Given the description of an element on the screen output the (x, y) to click on. 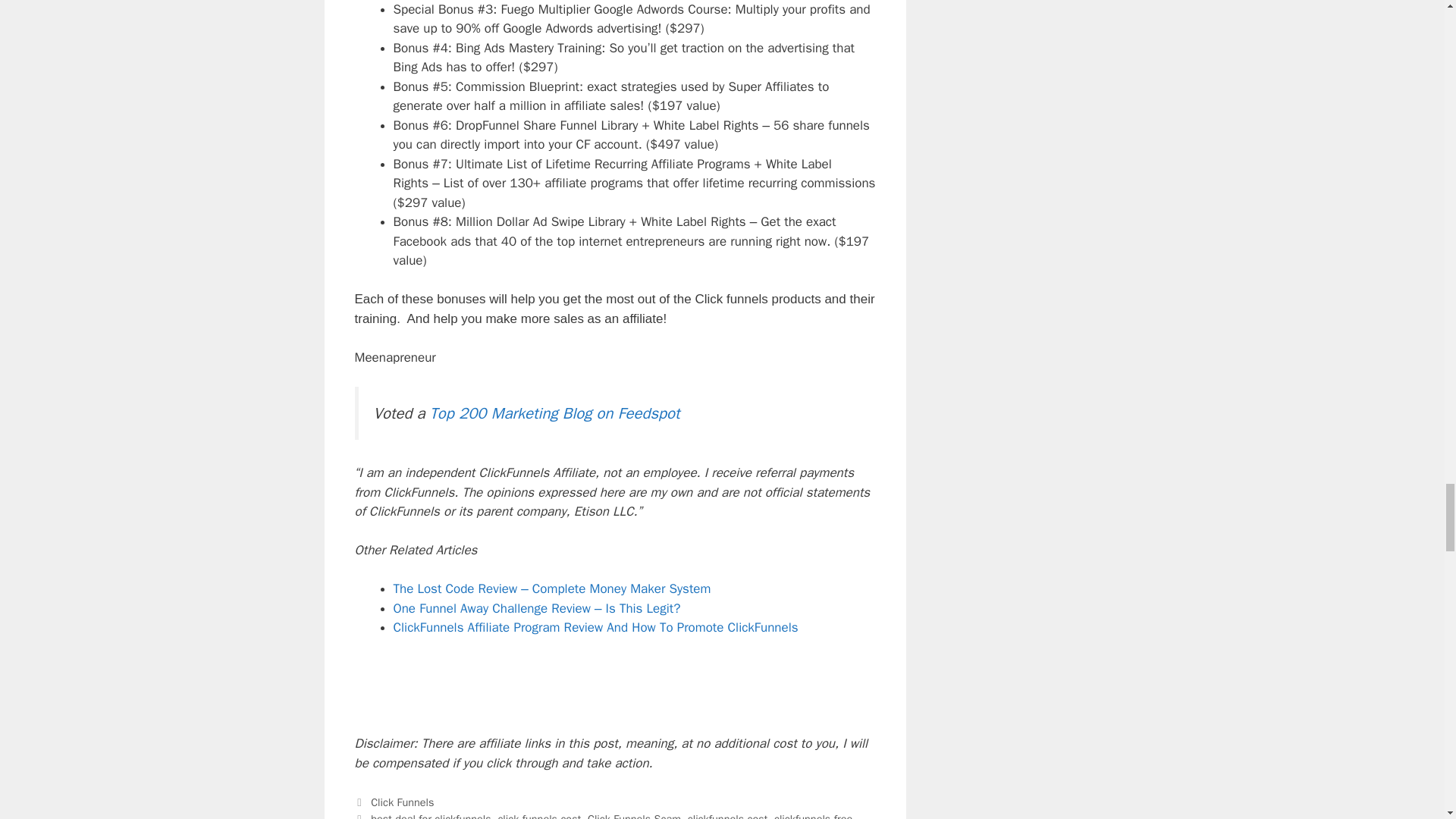
Top 200 Marketing Blog on Feedspot (554, 413)
